Given the description of an element on the screen output the (x, y) to click on. 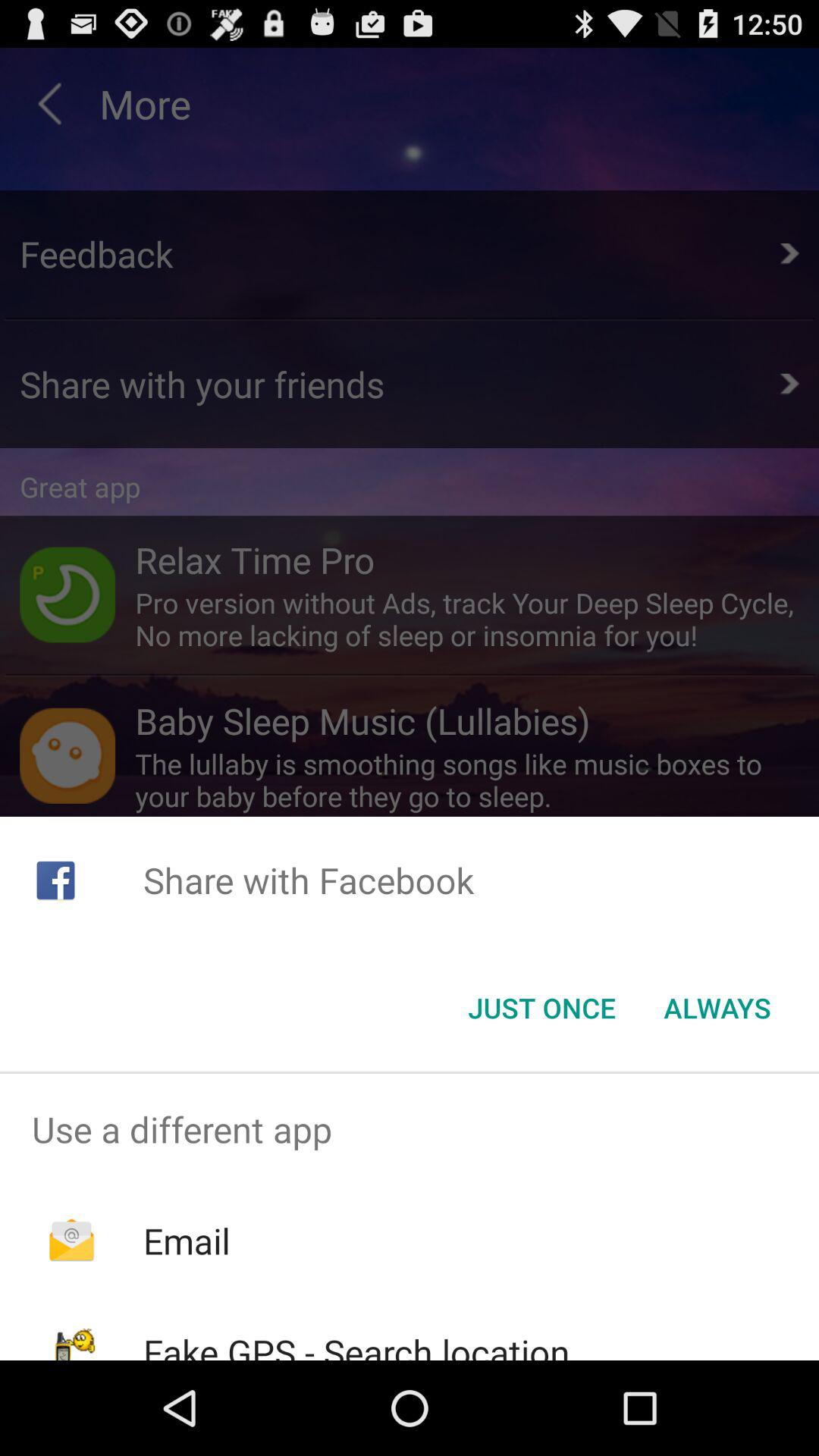
jump until the always icon (717, 1007)
